Given the description of an element on the screen output the (x, y) to click on. 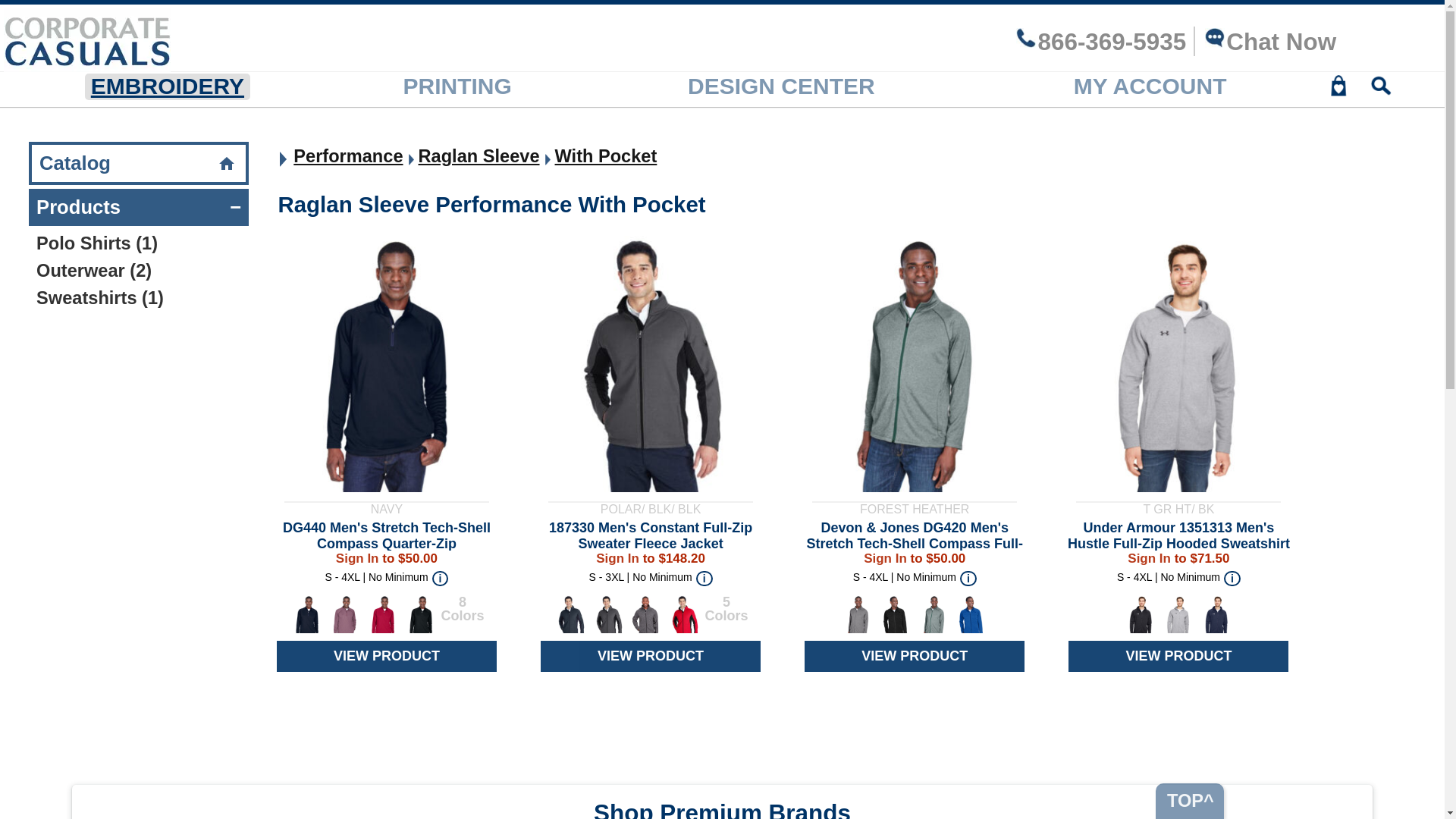
SEARCH (1380, 90)
EMBROIDERY (167, 86)
PRINTING (456, 86)
SHOPPING BAG (1338, 90)
DESIGN CENTER (780, 86)
MY ACCOUNT (1150, 86)
866-369-5935 (1099, 41)
Chat Now (1269, 41)
